Given the description of an element on the screen output the (x, y) to click on. 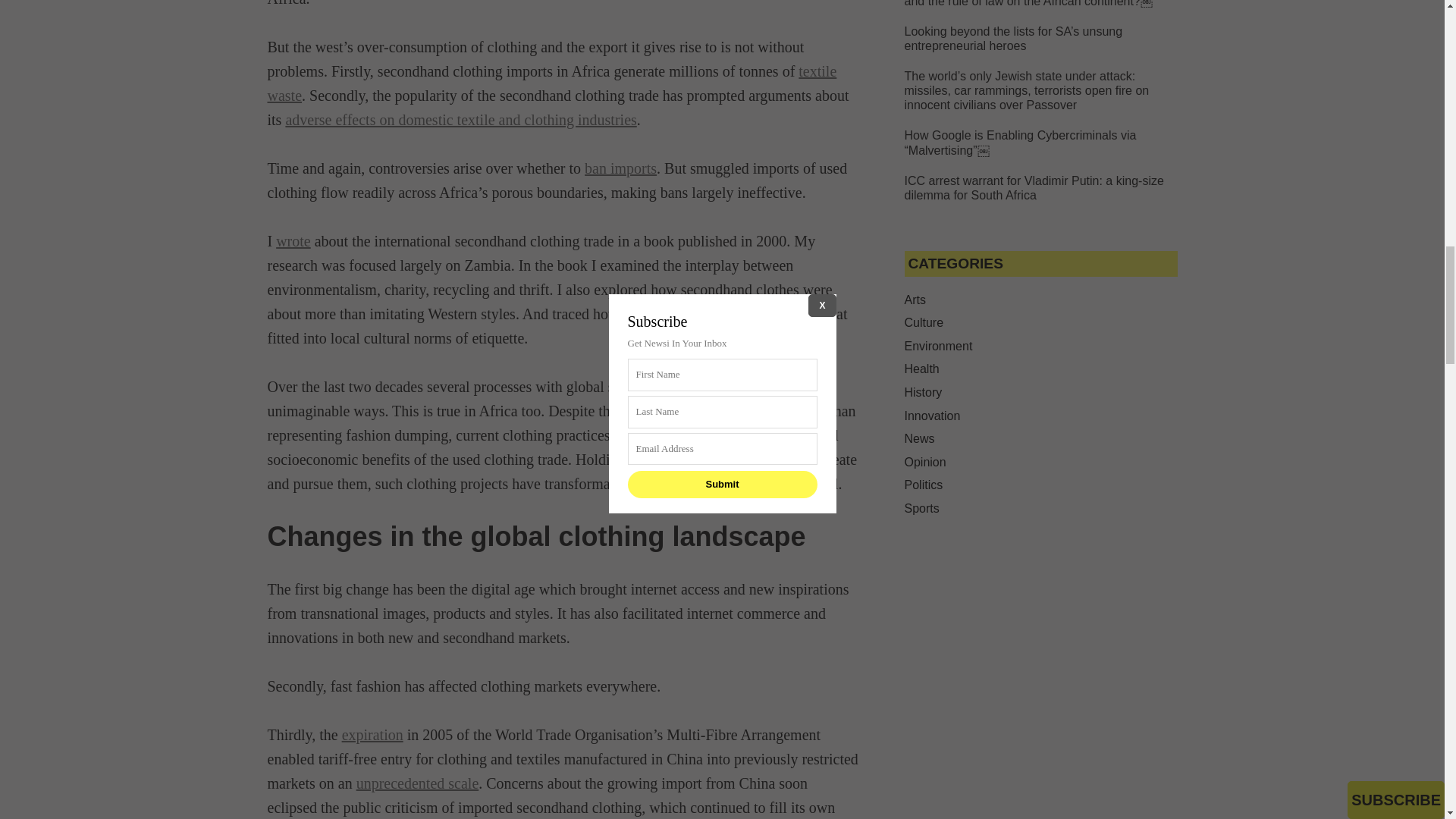
expiration (372, 734)
unprecedented scale (417, 782)
adverse effects on domestic textile and clothing industries (460, 119)
ban imports (620, 167)
textile waste (550, 83)
wrote (293, 240)
